Given the description of an element on the screen output the (x, y) to click on. 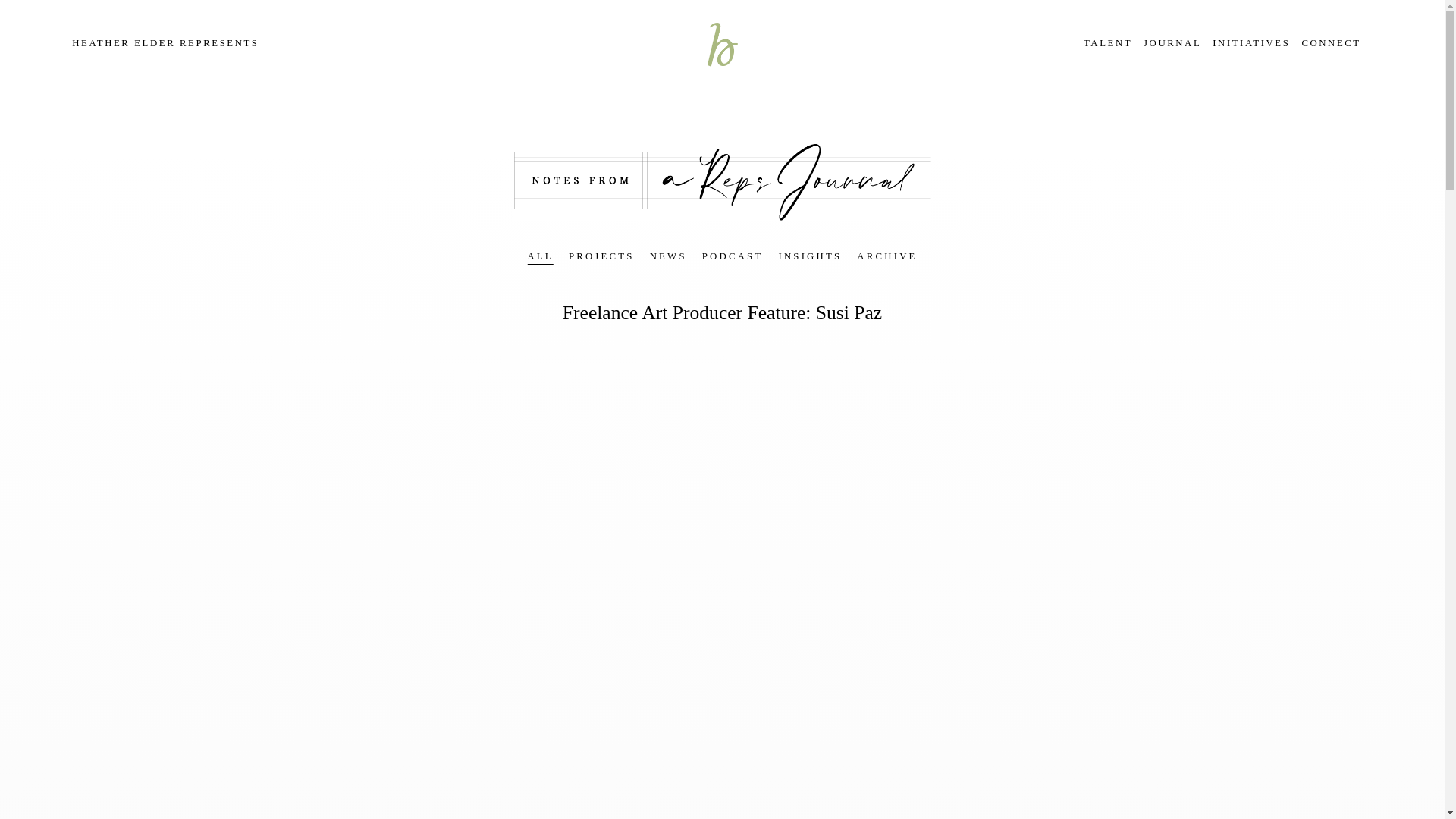
NEWS (668, 255)
HEATHER ELDER REPRESENTS (165, 43)
CONNECT (1330, 43)
PODCAST (731, 255)
ALL (540, 255)
INITIATIVES (1251, 43)
TALENT (1107, 43)
PROJECTS (601, 255)
ARCHIVE (887, 255)
JOURNAL (1171, 43)
INSIGHTS (809, 255)
